Given the description of an element on the screen output the (x, y) to click on. 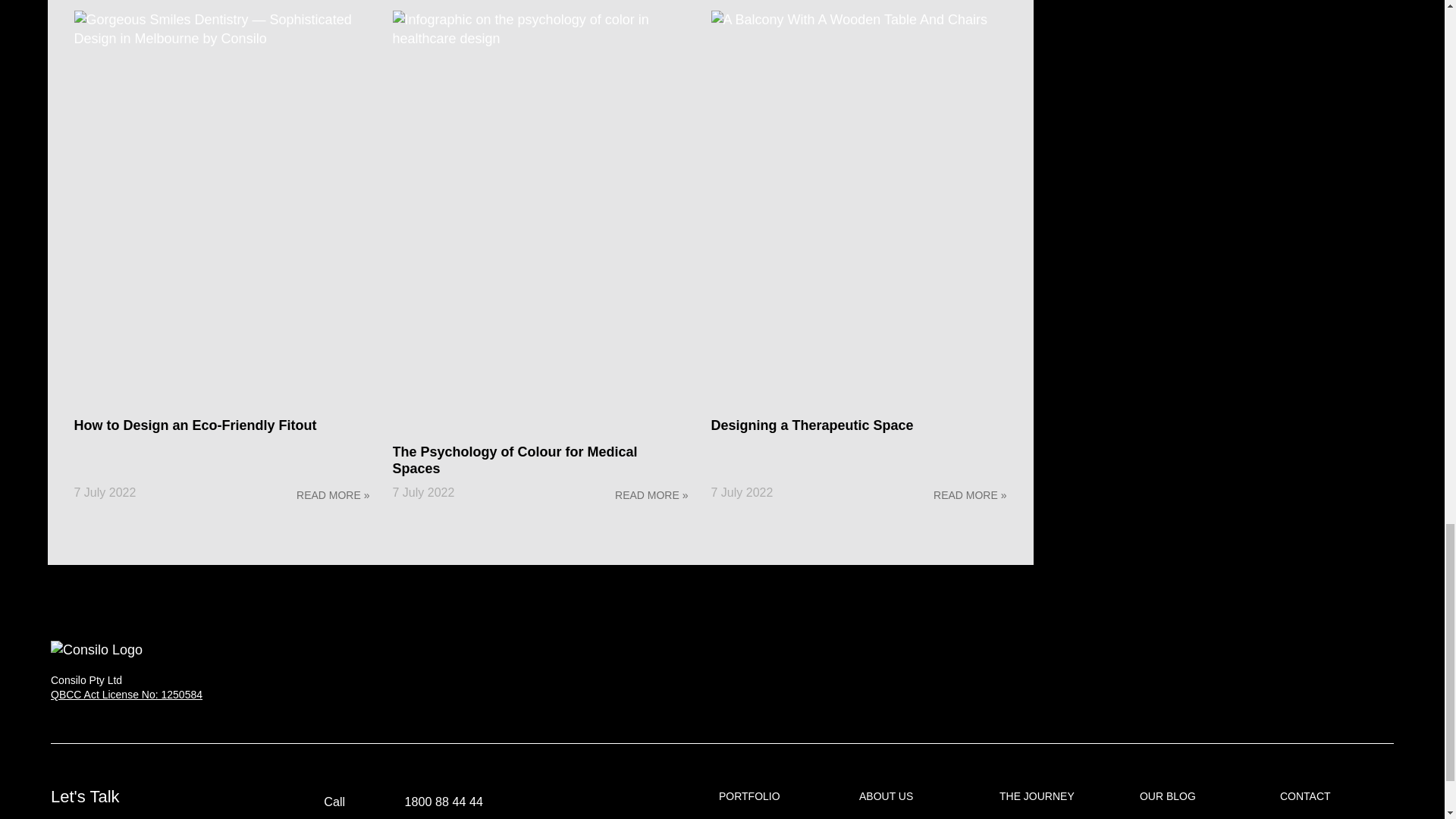
Designing a Therapeutic Space (812, 425)
The Psychology of Colour for Medical Spaces (515, 459)
How to Design an Eco-Friendly Fitout (195, 425)
